Given the description of an element on the screen output the (x, y) to click on. 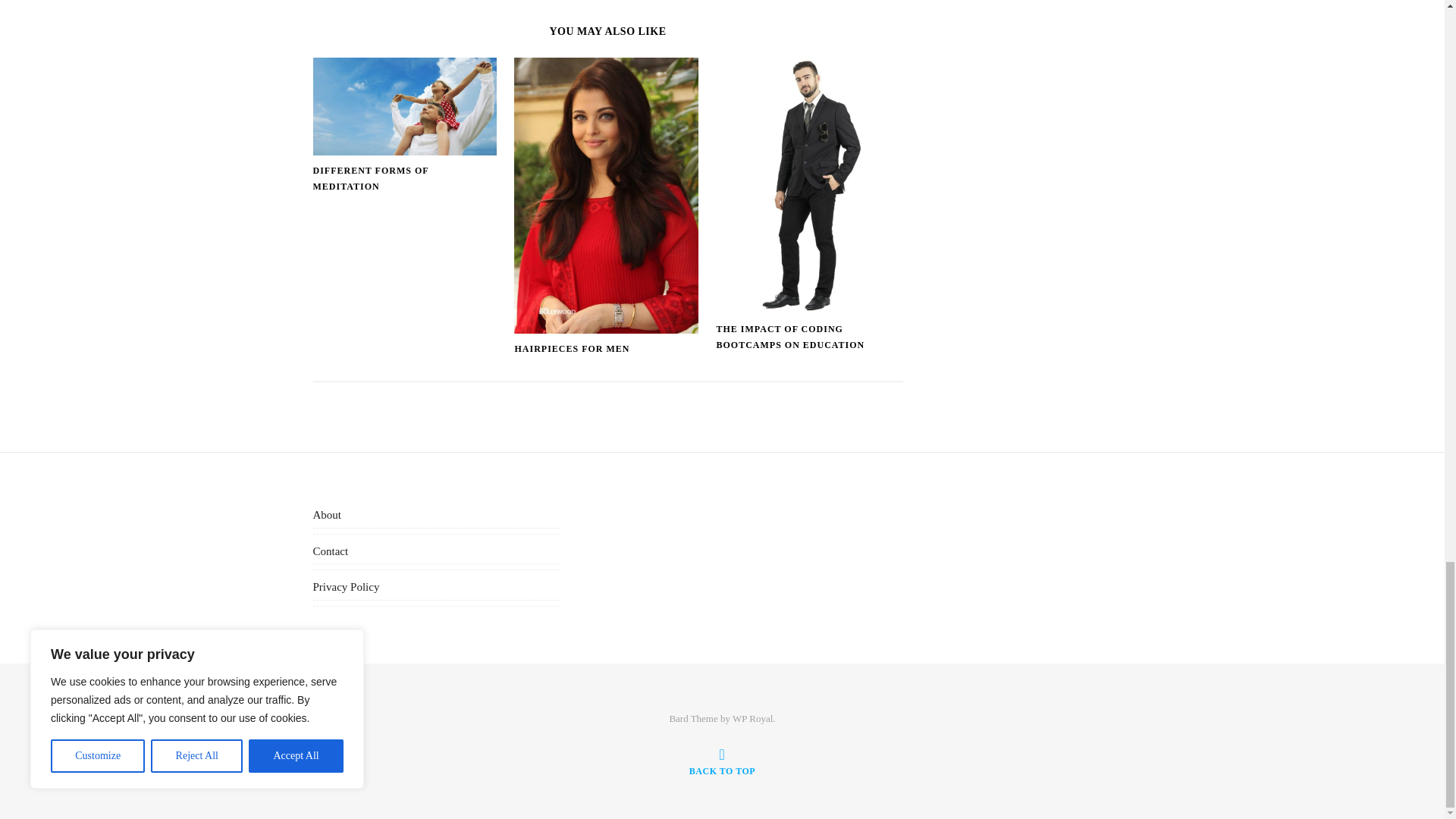
BACK TO TOP (722, 761)
